Given the description of an element on the screen output the (x, y) to click on. 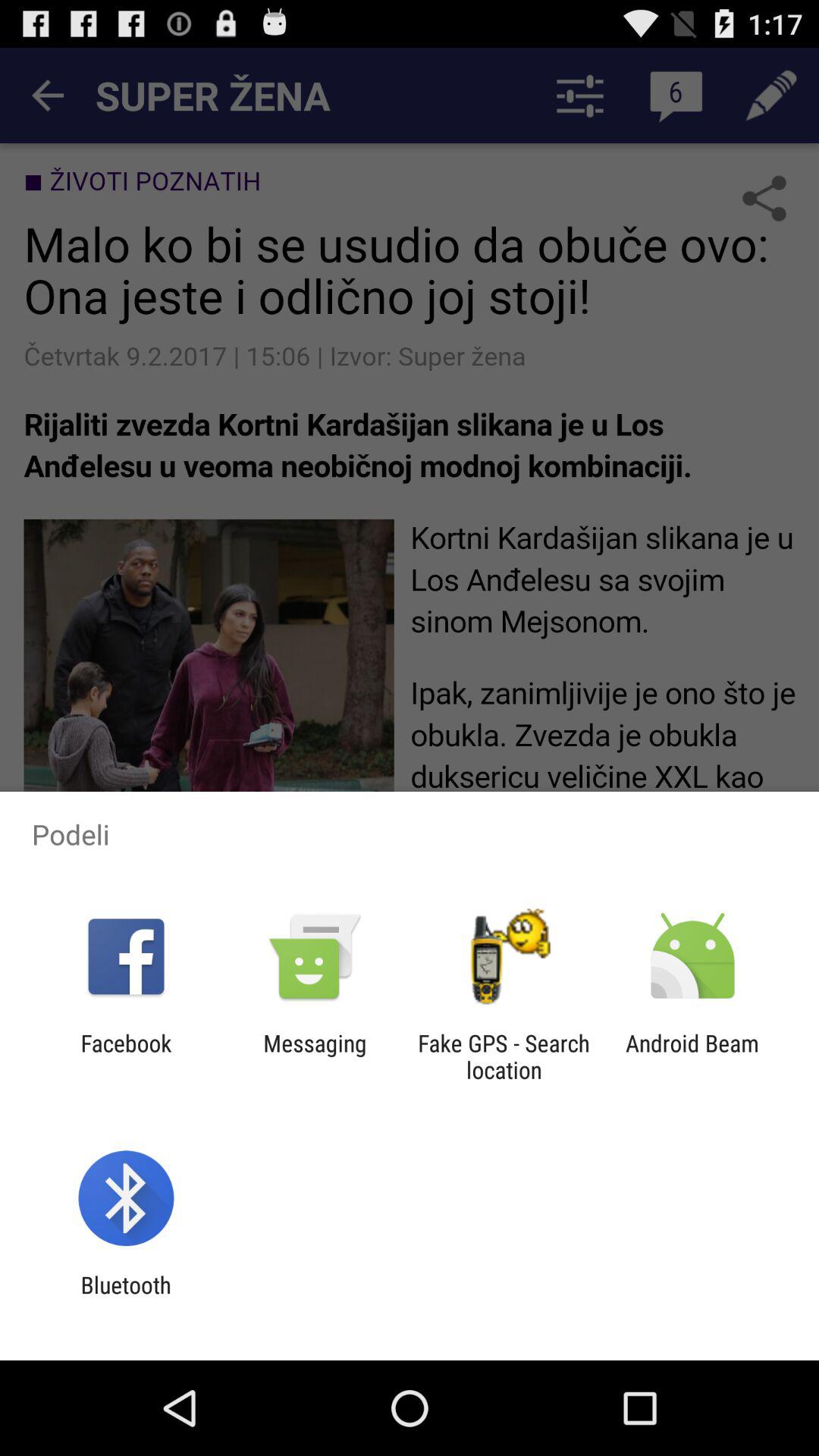
swipe to the android beam (692, 1056)
